Given the description of an element on the screen output the (x, y) to click on. 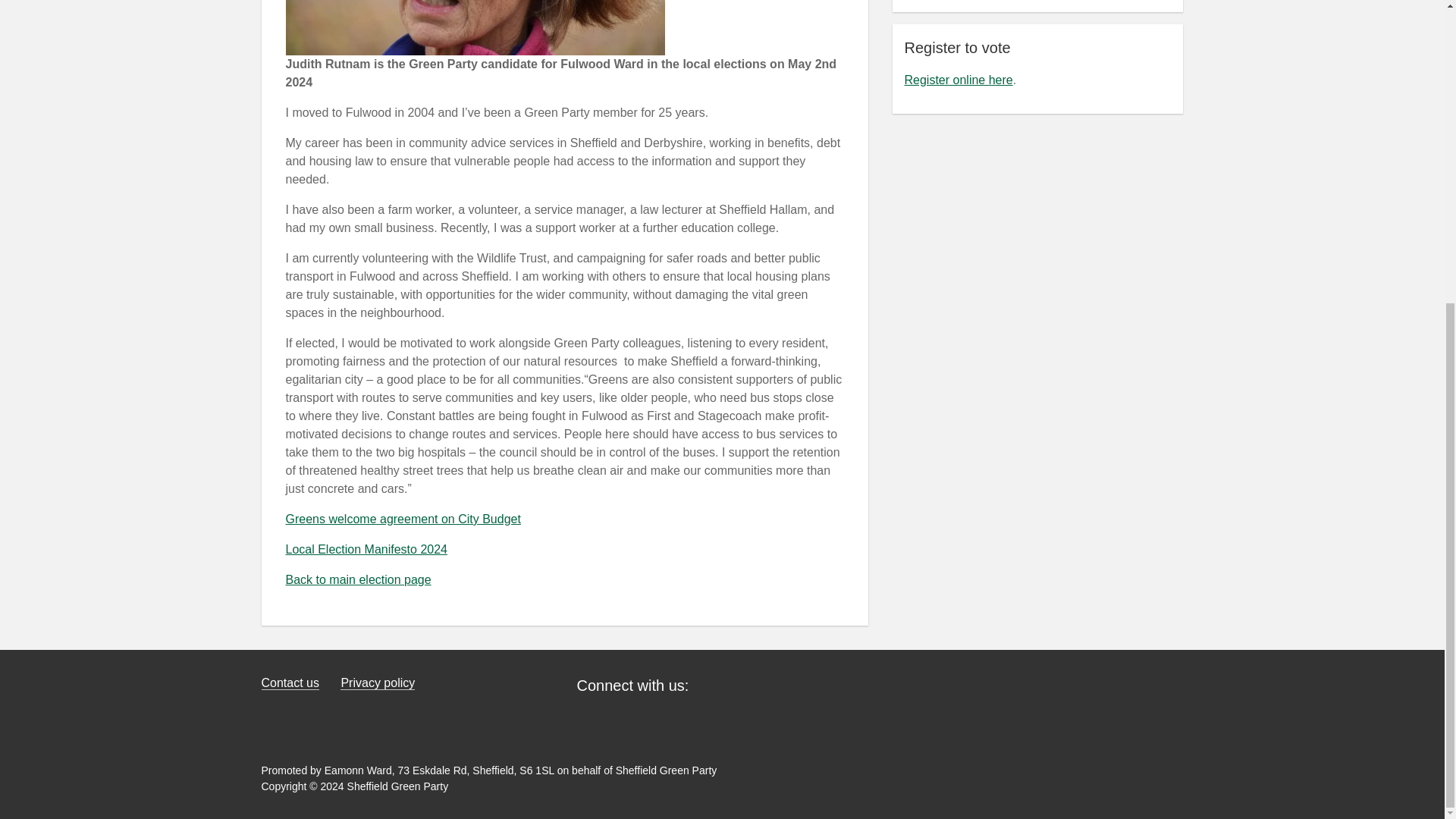
Back to main election page (357, 579)
Greens welcome agreement on City Budget (402, 518)
Contact us (289, 683)
Facebook (587, 721)
Privacy policy (377, 683)
Instagram (726, 721)
Twitter (634, 721)
Register online here (957, 79)
Local Election Manifesto 2024 (365, 549)
YouTube (680, 721)
